Given the description of an element on the screen output the (x, y) to click on. 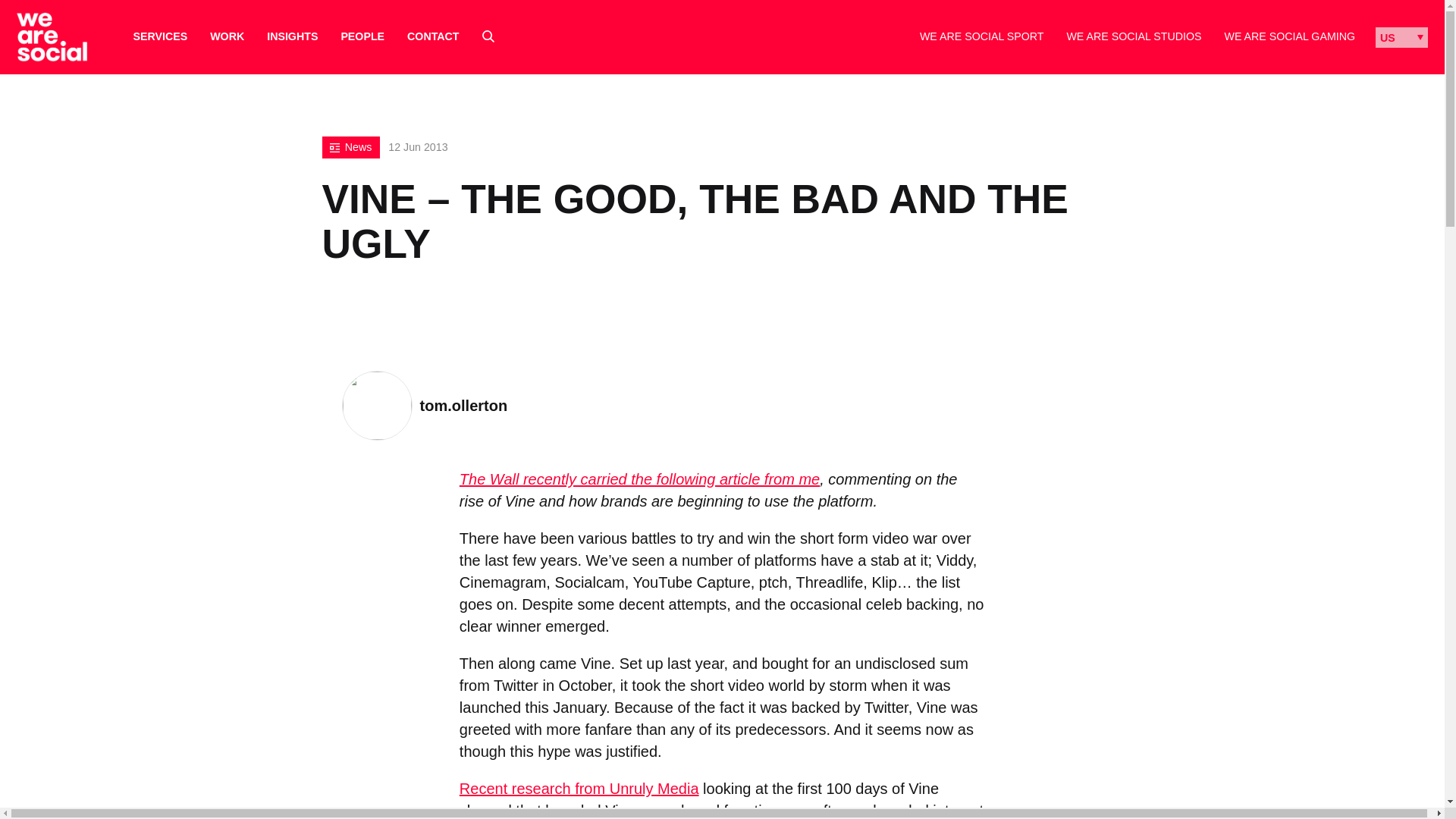
CONTACT (432, 36)
Insights (291, 36)
WE ARE SOCIAL SPORT (981, 36)
The Wall recently carried the following article from me (639, 478)
WORK (226, 36)
Select to toggle search form (488, 36)
WE ARE SOCIAL GAMING (1289, 36)
Recent research from Unruly Media (579, 788)
Work (226, 36)
PEOPLE (362, 36)
INSIGHTS (291, 36)
SERVICES (160, 36)
WE ARE SOCIAL STUDIOS (1133, 36)
Contact (432, 36)
